Given the description of an element on the screen output the (x, y) to click on. 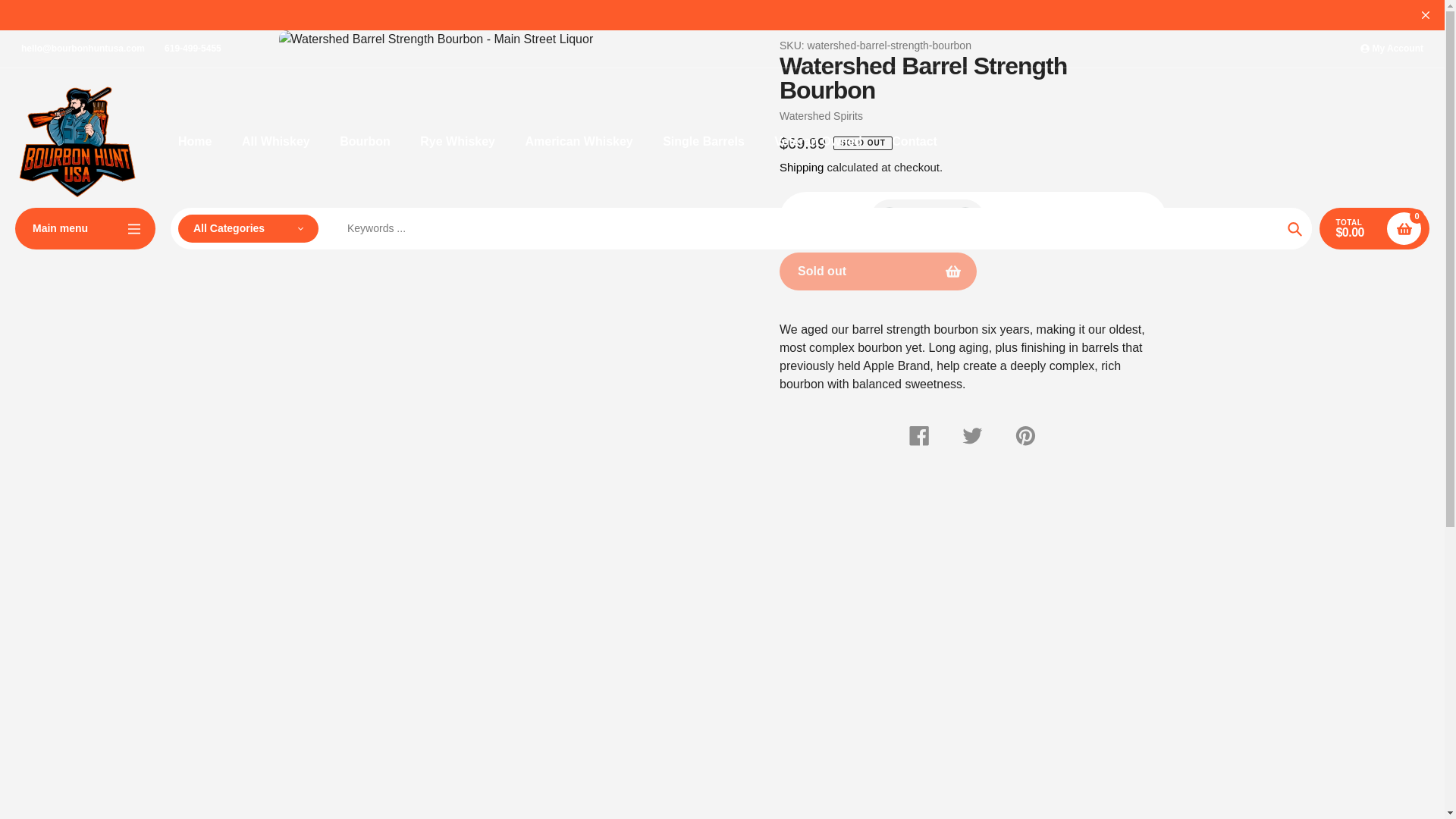
American Whiskey (577, 141)
Rye Whiskey (457, 141)
619-499-5455 (192, 48)
Home (194, 141)
My Account (1391, 48)
Contact (914, 141)
All Categories (247, 228)
Main menu (84, 228)
1 (927, 217)
Bourbon (364, 141)
